Given the description of an element on the screen output the (x, y) to click on. 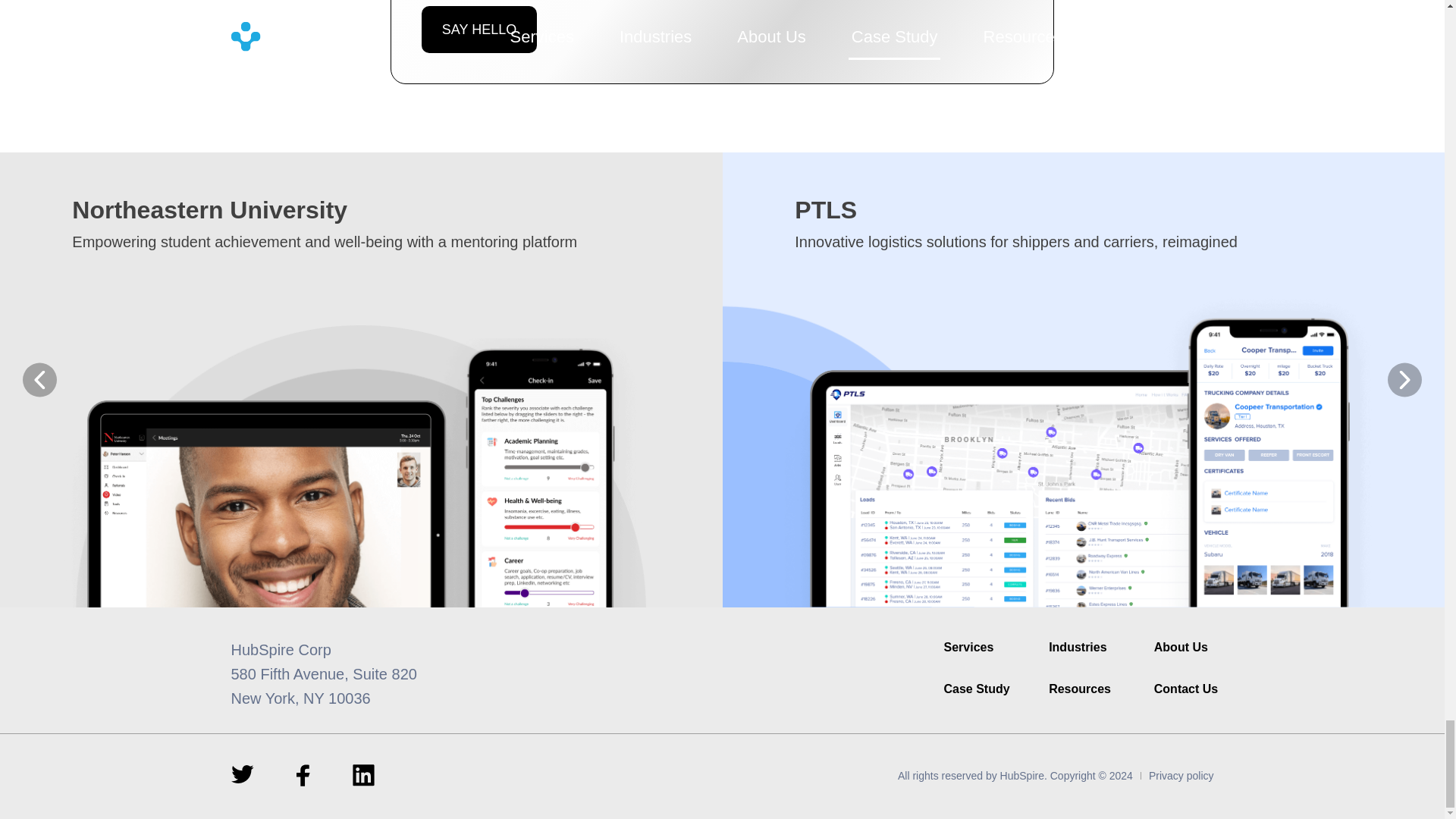
Twitter (241, 773)
Linkedin (363, 775)
